Given the description of an element on the screen output the (x, y) to click on. 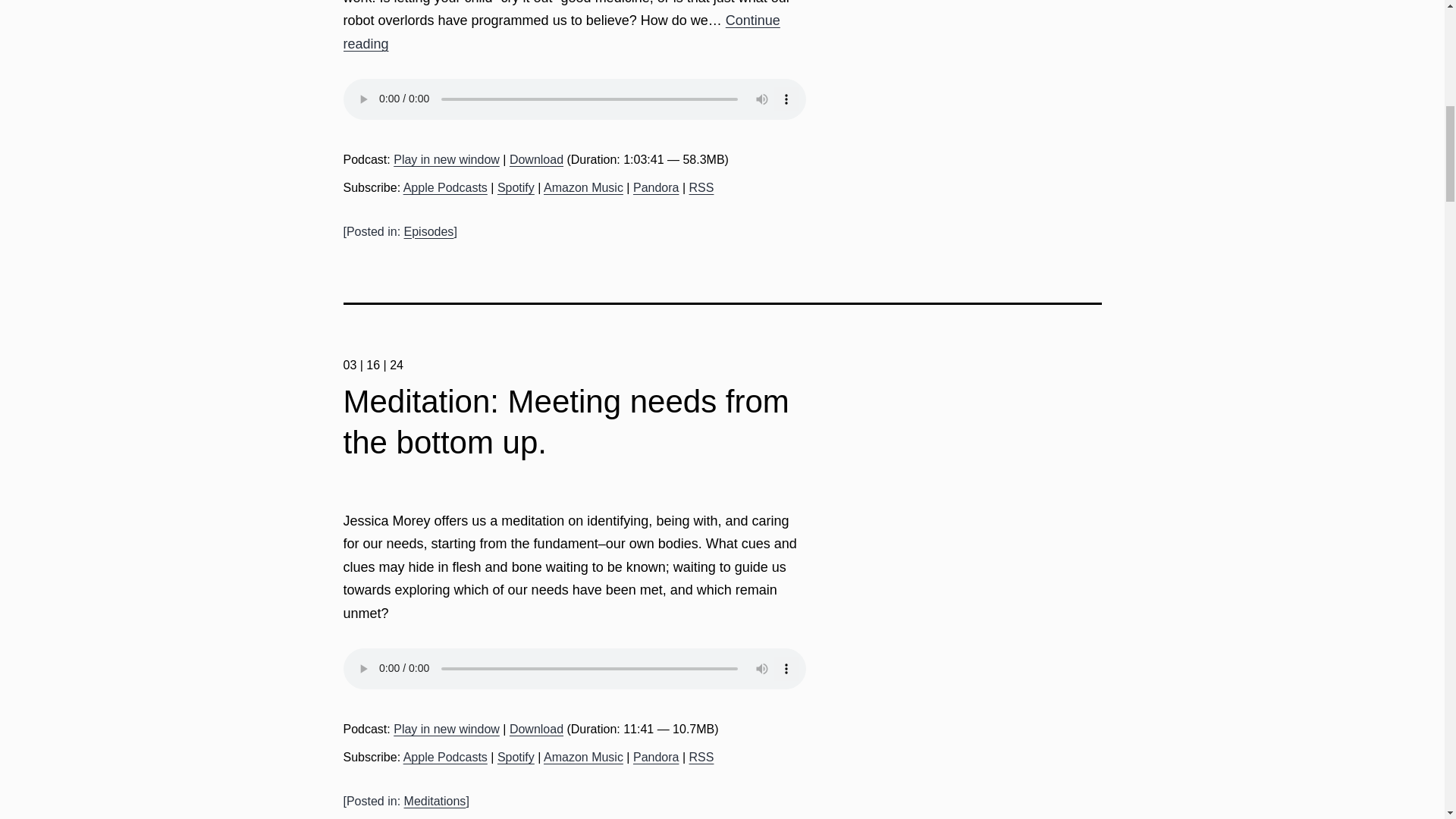
Play in new window (446, 159)
Subscribe on Apple Podcasts (445, 757)
Pandora (656, 757)
Subscribe on Spotify (515, 187)
Subscribe via RSS (700, 757)
Amazon Music (583, 757)
Subscribe on Amazon Music (583, 187)
Meditation: Meeting needs from the bottom up. (565, 422)
Apple Podcasts (445, 187)
Play in new window (446, 728)
RSS (700, 187)
Play in new window (446, 159)
Pandora (656, 187)
Download (536, 159)
Subscribe on Apple Podcasts (445, 187)
